Given the description of an element on the screen output the (x, y) to click on. 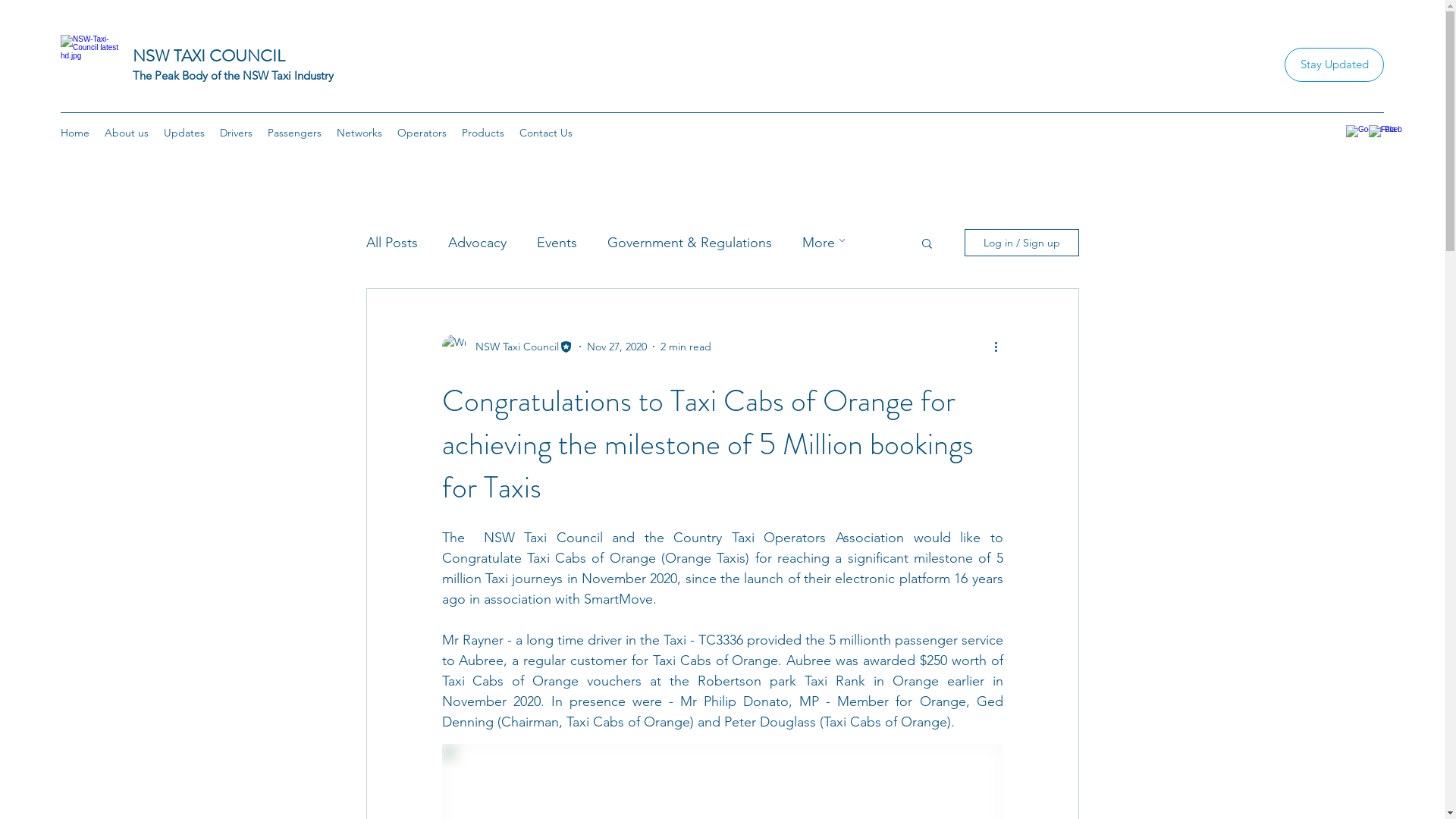
Networks Element type: text (359, 132)
NSW TAXI COUNCIL Element type: text (208, 55)
Contact Us Element type: text (545, 132)
Events Element type: text (556, 242)
The Peak Body of the NSW Taxi Industry Element type: text (232, 75)
All Posts Element type: text (391, 242)
Log in / Sign up Element type: text (1021, 242)
Home Element type: text (75, 132)
Stay Updated Element type: text (1333, 64)
Advocacy Element type: text (476, 242)
Government & Regulations Element type: text (688, 242)
